Given the description of an element on the screen output the (x, y) to click on. 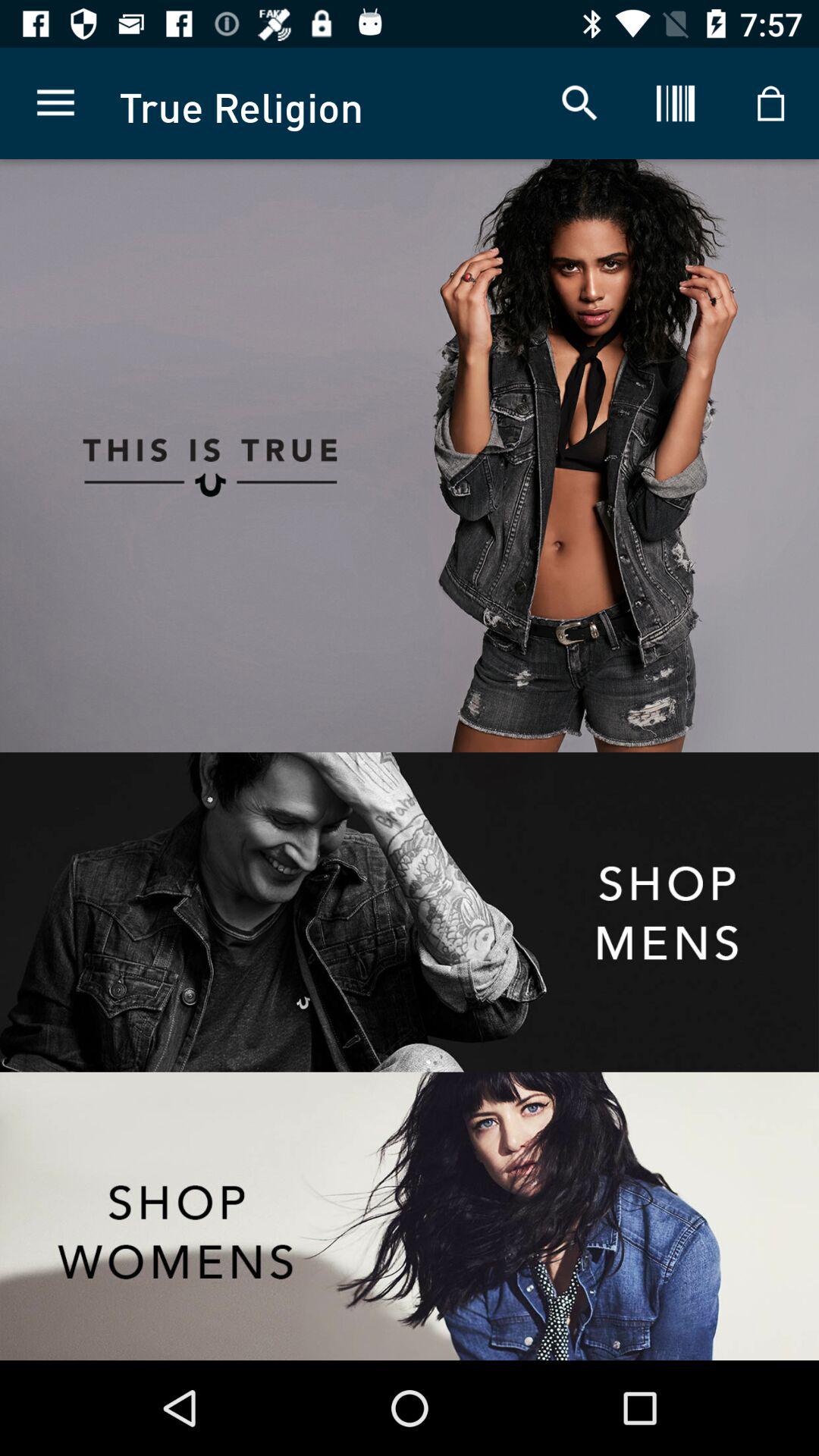
turn off the item to the left of the true religion app (55, 103)
